Given the description of an element on the screen output the (x, y) to click on. 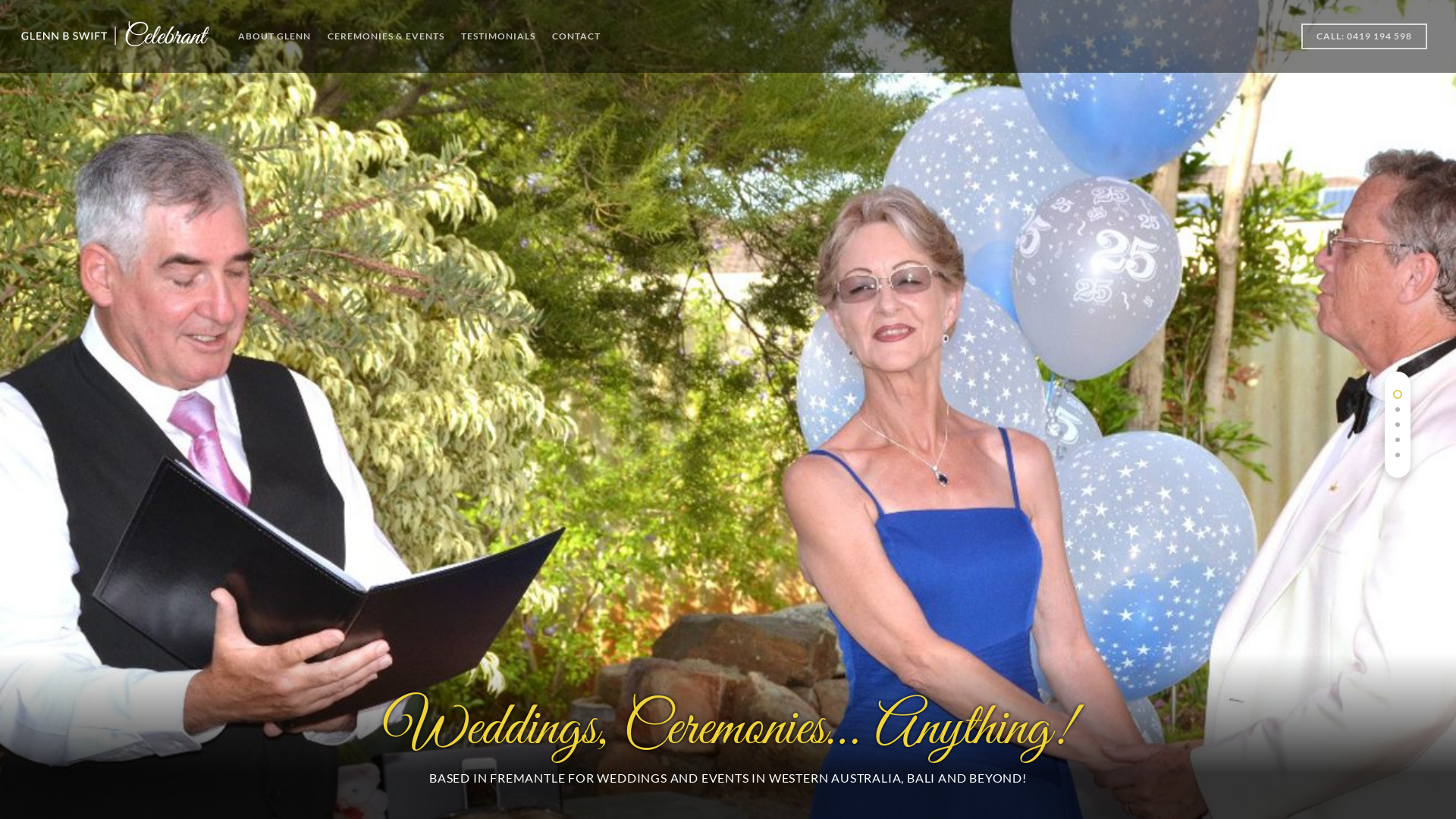
CONTACT Element type: text (576, 38)
ABOUT GLENN Element type: text (274, 38)
CALL: 0419 194 598 Element type: text (1364, 46)
CEREMONIES & EVENTS Element type: text (385, 38)
TESTIMONIALS Element type: text (497, 38)
